Given the description of an element on the screen output the (x, y) to click on. 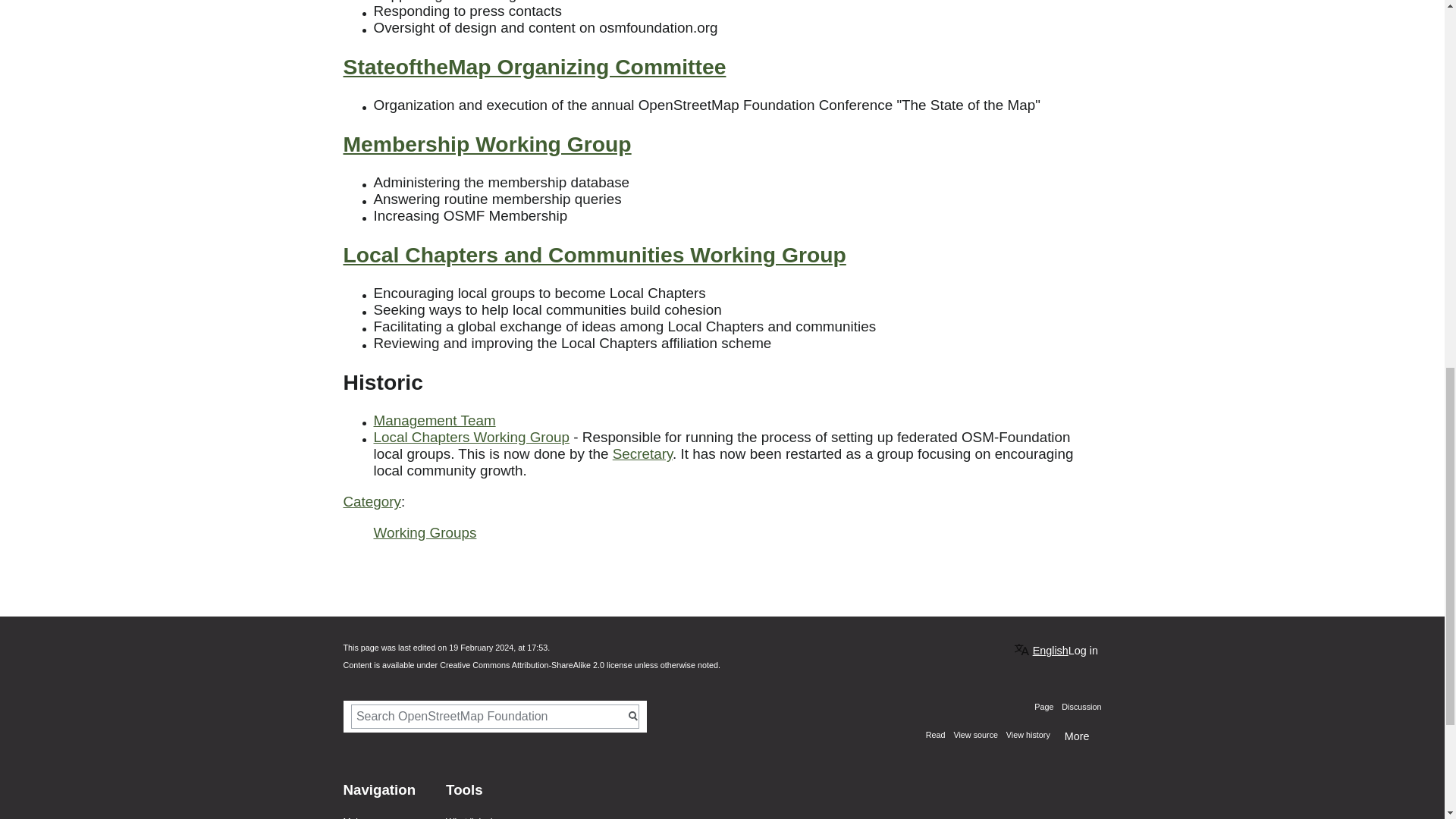
Local Chapters and Communities Working Group (593, 254)
What links here (476, 817)
Local Chapters Working Group (470, 437)
View source (970, 734)
Membership Working Group (486, 143)
Special:Categories (371, 501)
Main page (363, 817)
Membership Working Group (486, 143)
Page (1042, 706)
Secretary (642, 453)
Local Chapters and Communities Working Group (593, 254)
Go (633, 716)
Log in (1082, 650)
Management Team (433, 420)
Wiki content license (535, 664)
